Given the description of an element on the screen output the (x, y) to click on. 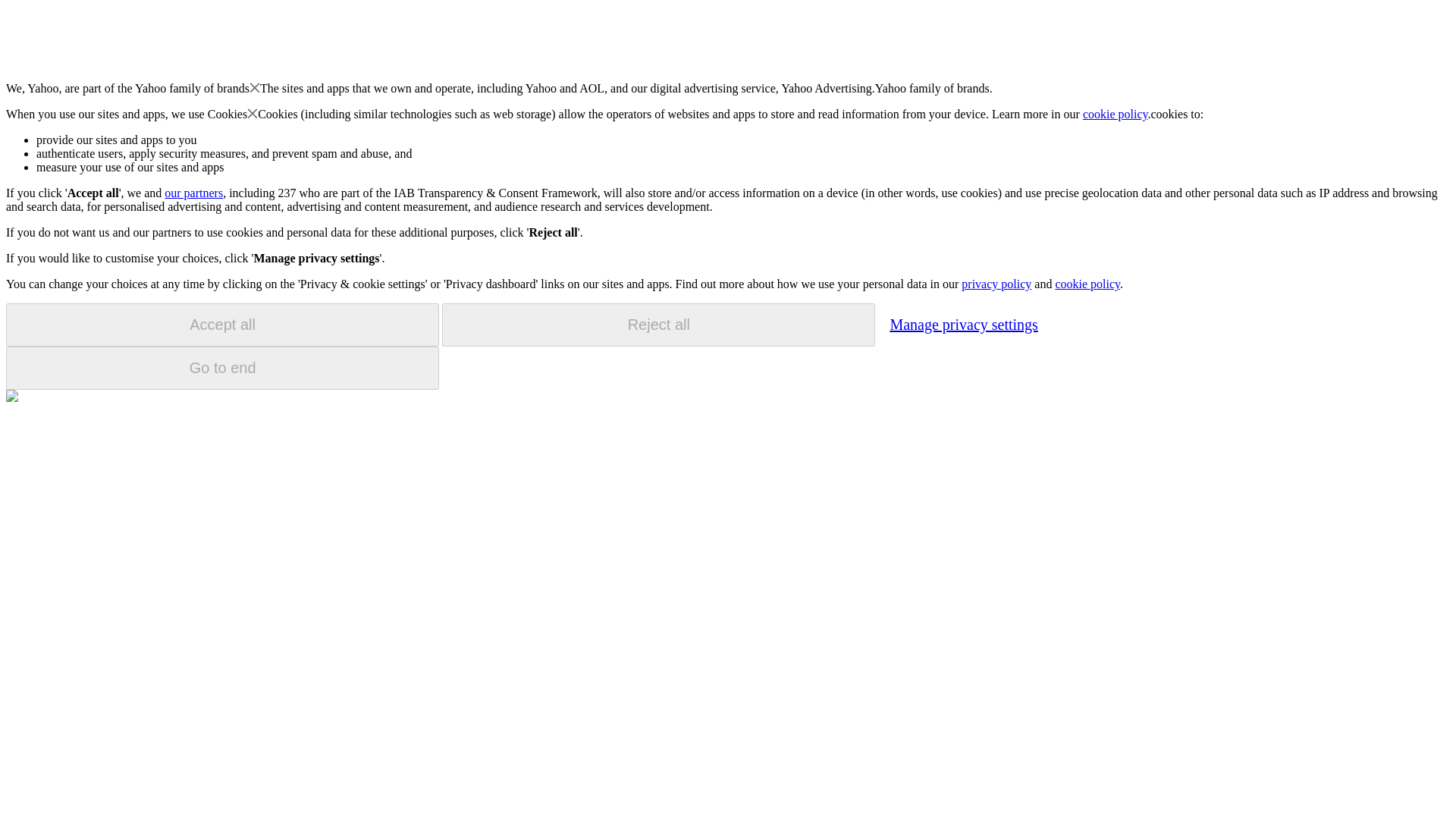
Go to end (222, 367)
cookie policy (1115, 113)
Manage privacy settings (963, 323)
privacy policy (995, 283)
cookie policy (1086, 283)
Reject all (658, 324)
our partners (193, 192)
Accept all (222, 324)
